Given the description of an element on the screen output the (x, y) to click on. 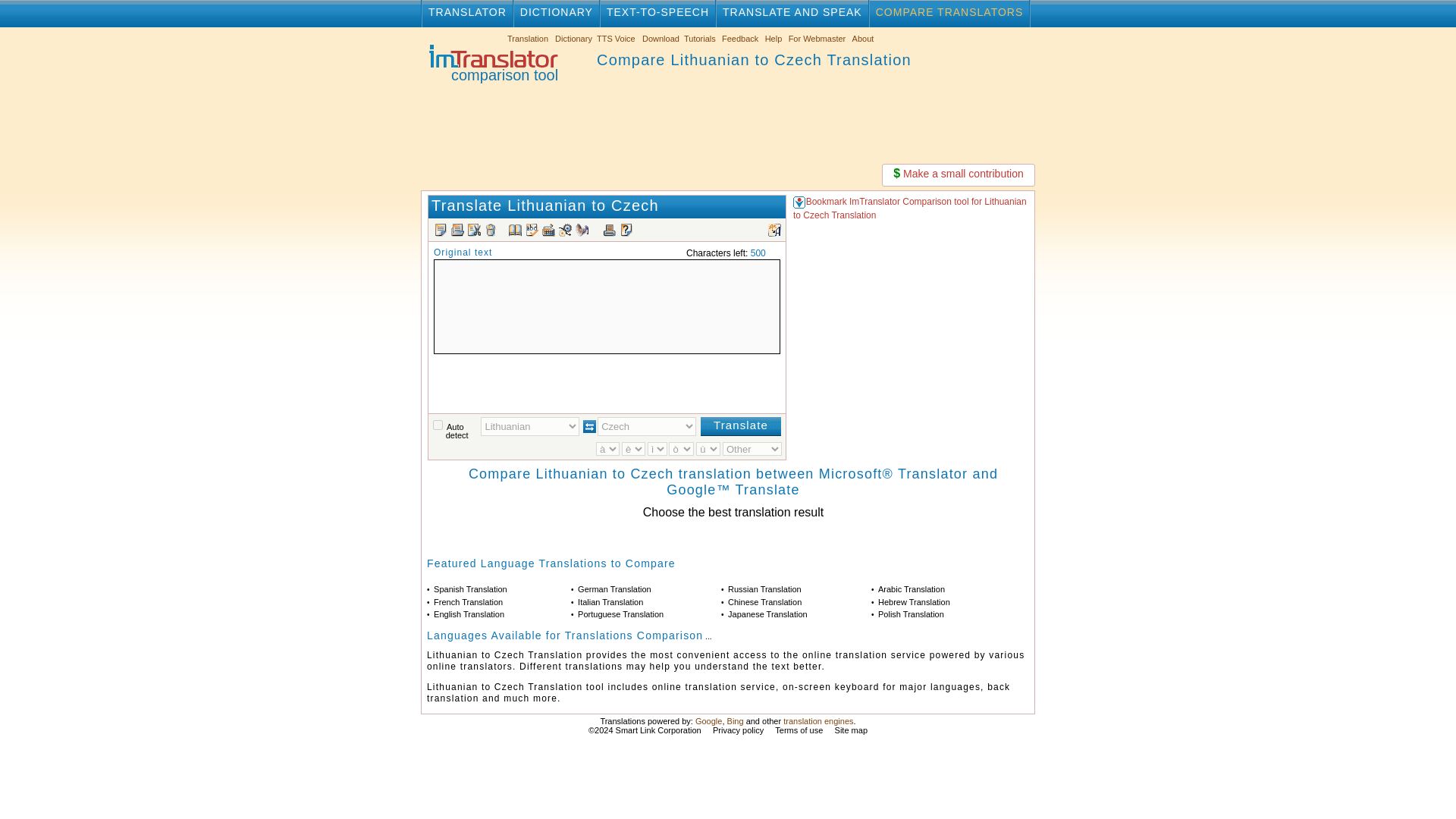
comparison tool (490, 62)
Select Translation (567, 38)
Compare Lithuanian to Czech translation (490, 62)
Select Dictionary (606, 38)
Select Translation (527, 38)
Select Dictionary (573, 38)
Translation (527, 38)
on (437, 424)
